Given the description of an element on the screen output the (x, y) to click on. 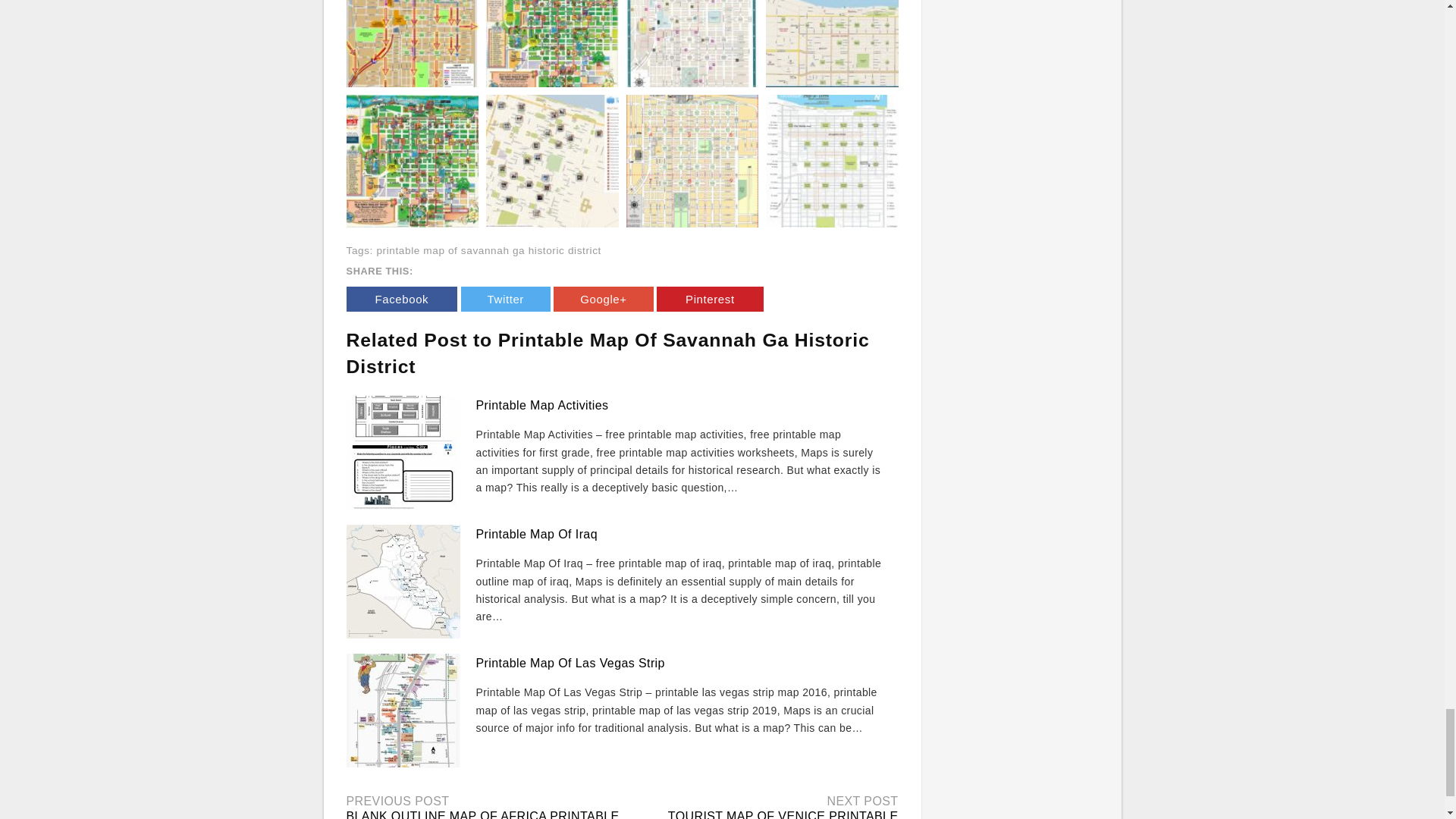
TOURIST MAP OF VENICE PRINTABLE (783, 814)
BLANK OUTLINE MAP OF AFRICA PRINTABLE (482, 814)
Facebook (401, 299)
printable map of savannah ga historic district (488, 250)
Printable Map Of Las Vegas Strip (570, 662)
Printable Map Of Iraq (536, 533)
Pinterest (709, 299)
Printable Map Activities (542, 404)
Twitter (505, 299)
